Given the description of an element on the screen output the (x, y) to click on. 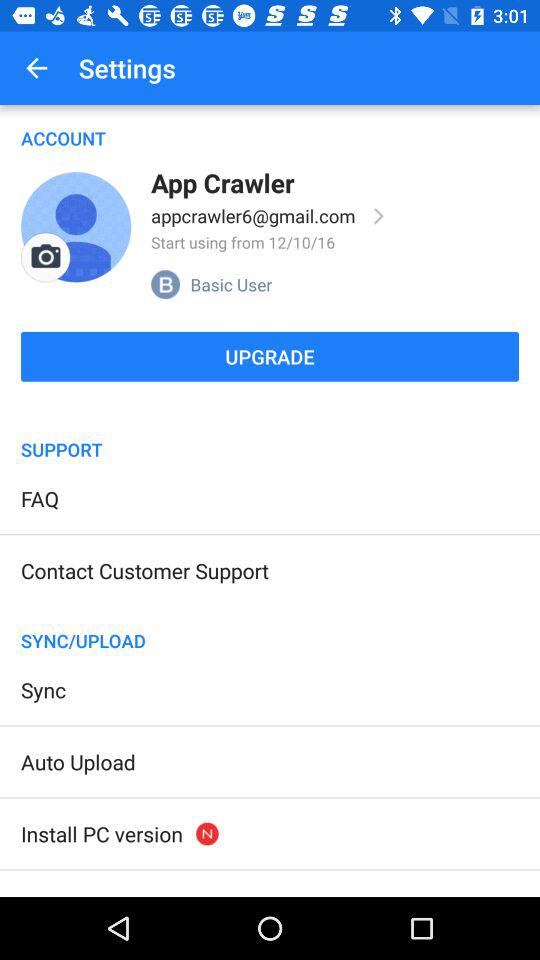
launch the account item (270, 127)
